Given the description of an element on the screen output the (x, y) to click on. 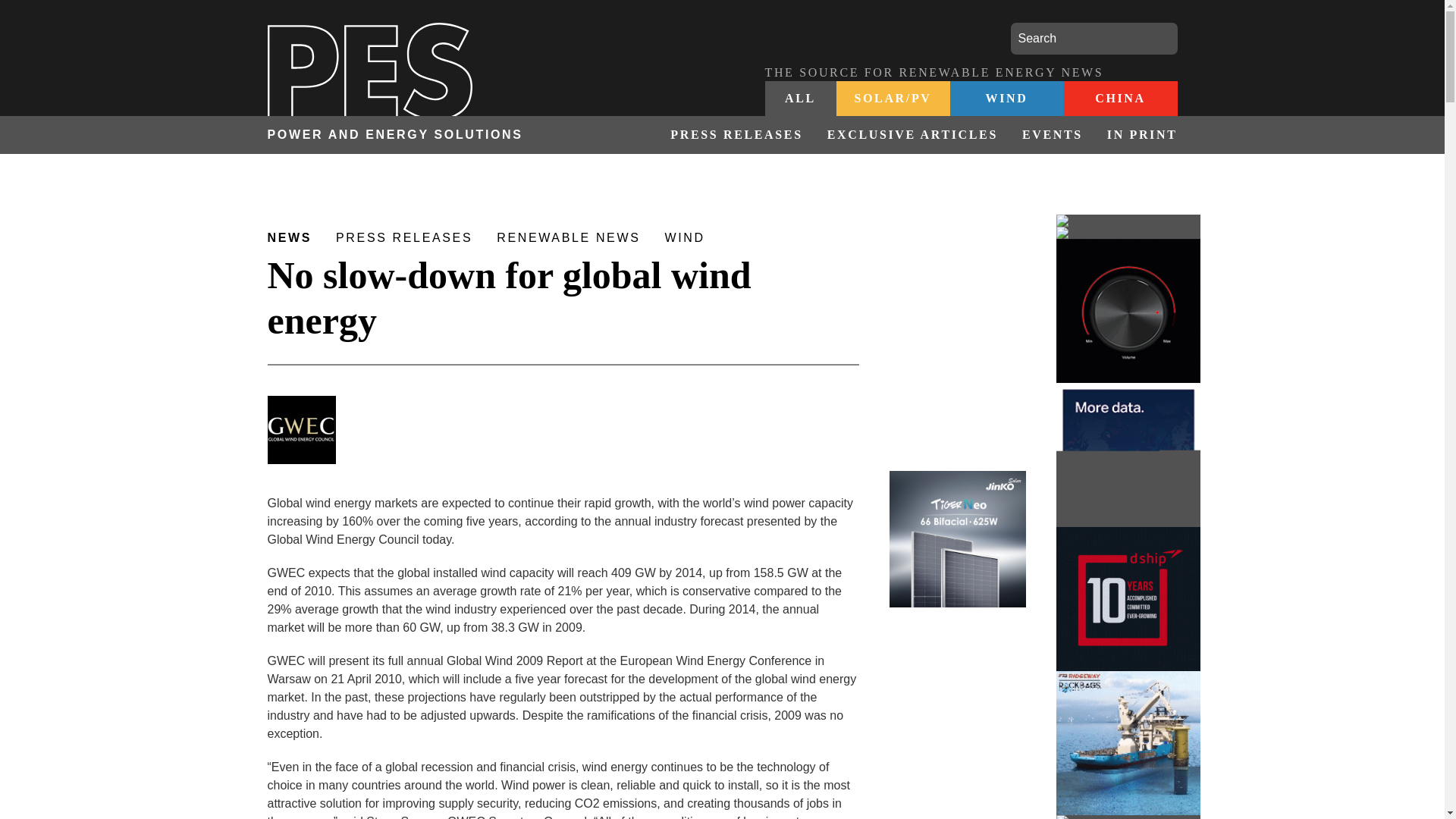
CHINA (1119, 98)
EVENTS (1052, 134)
PRESS RELEASES (735, 134)
WIND (1005, 98)
Search for: (1093, 38)
IN PRINT (1135, 134)
ALL (799, 98)
EXCLUSIVE ARTICLES (912, 134)
